Given the description of an element on the screen output the (x, y) to click on. 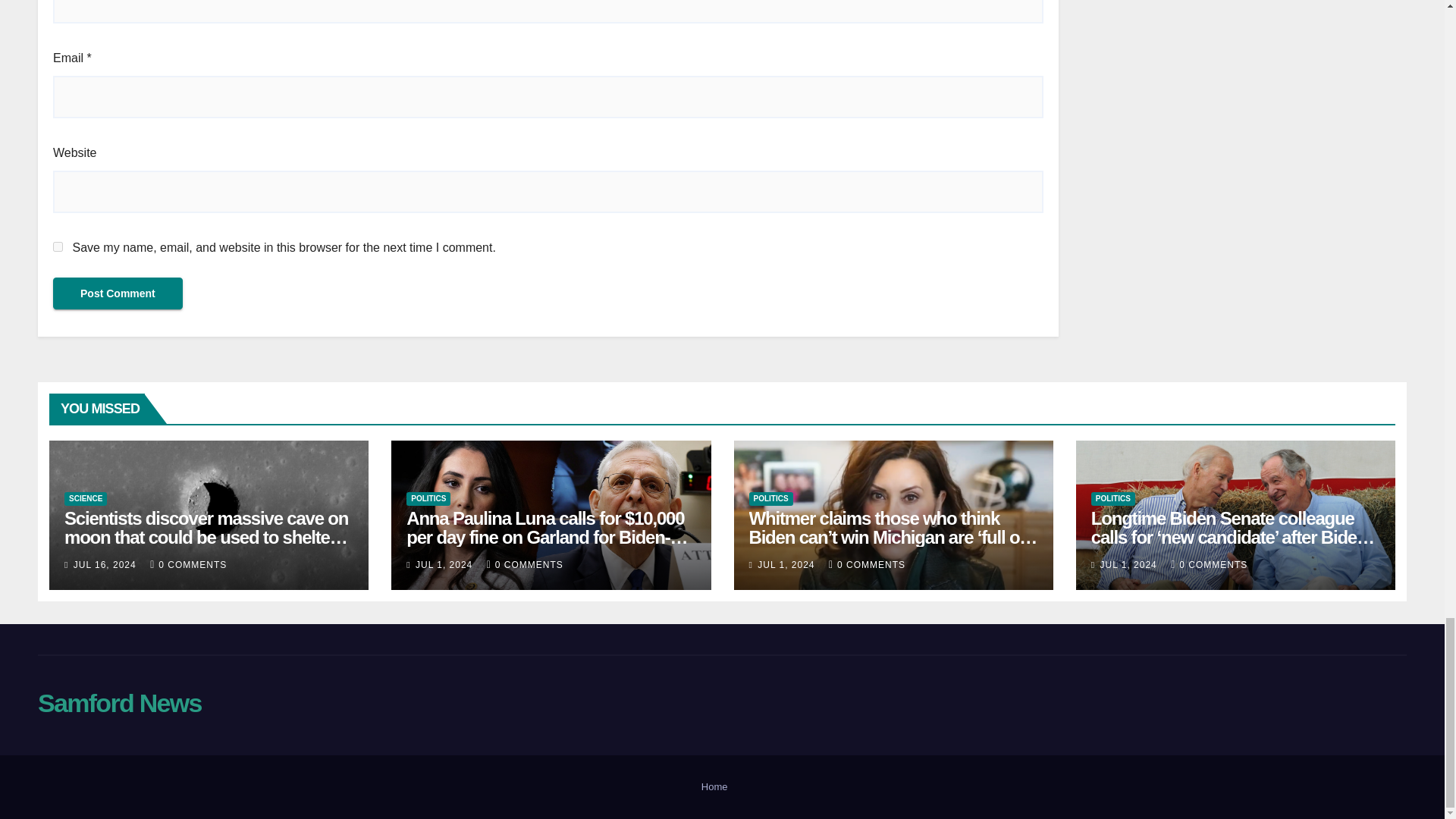
Post Comment (117, 293)
Post Comment (117, 293)
yes (57, 246)
